Given the description of an element on the screen output the (x, y) to click on. 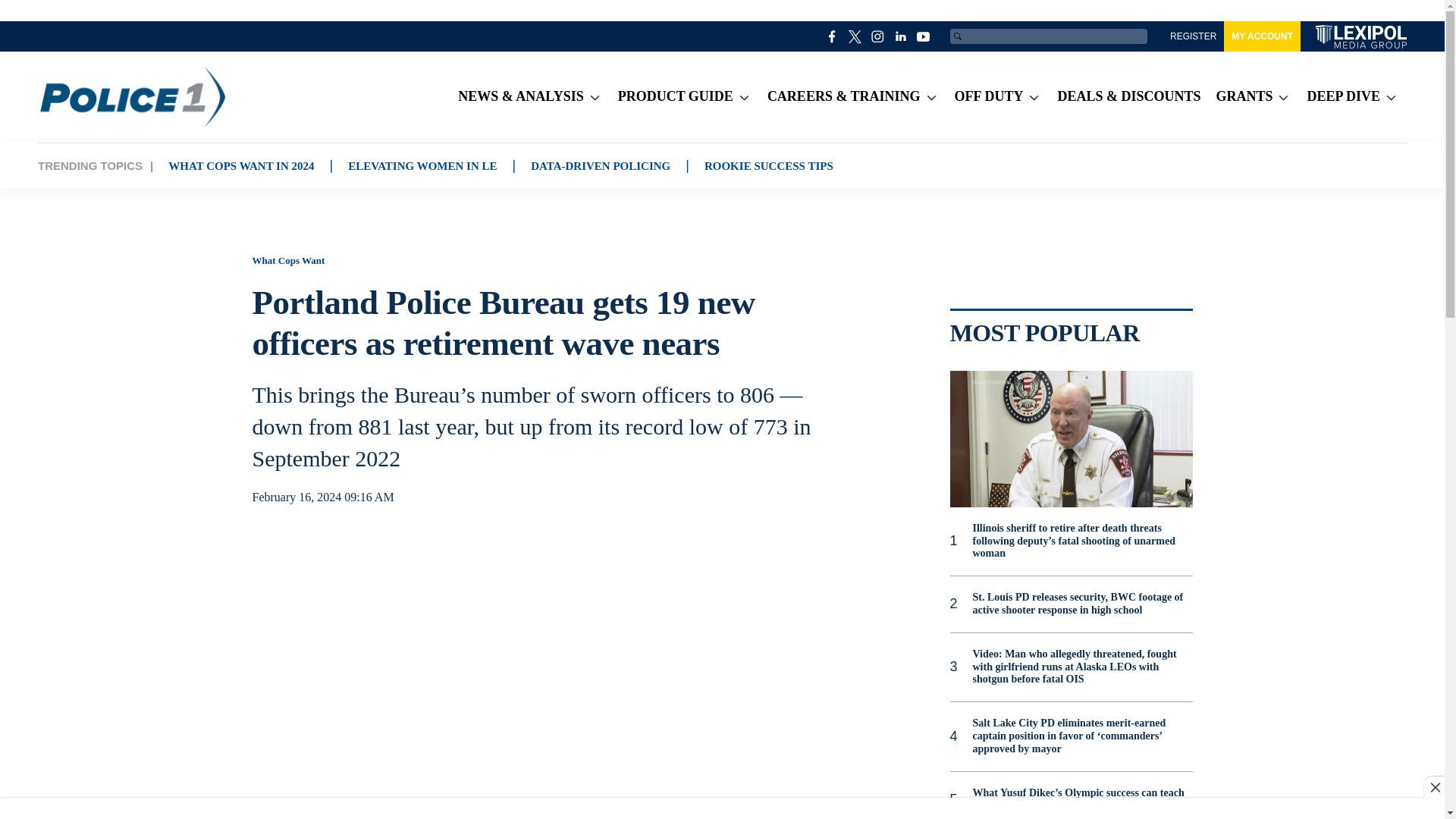
twitter (855, 36)
facebook (832, 36)
linkedin (900, 36)
MY ACCOUNT (1262, 36)
REGISTER (1192, 36)
youtube (923, 36)
instagram (877, 36)
